Given the description of an element on the screen output the (x, y) to click on. 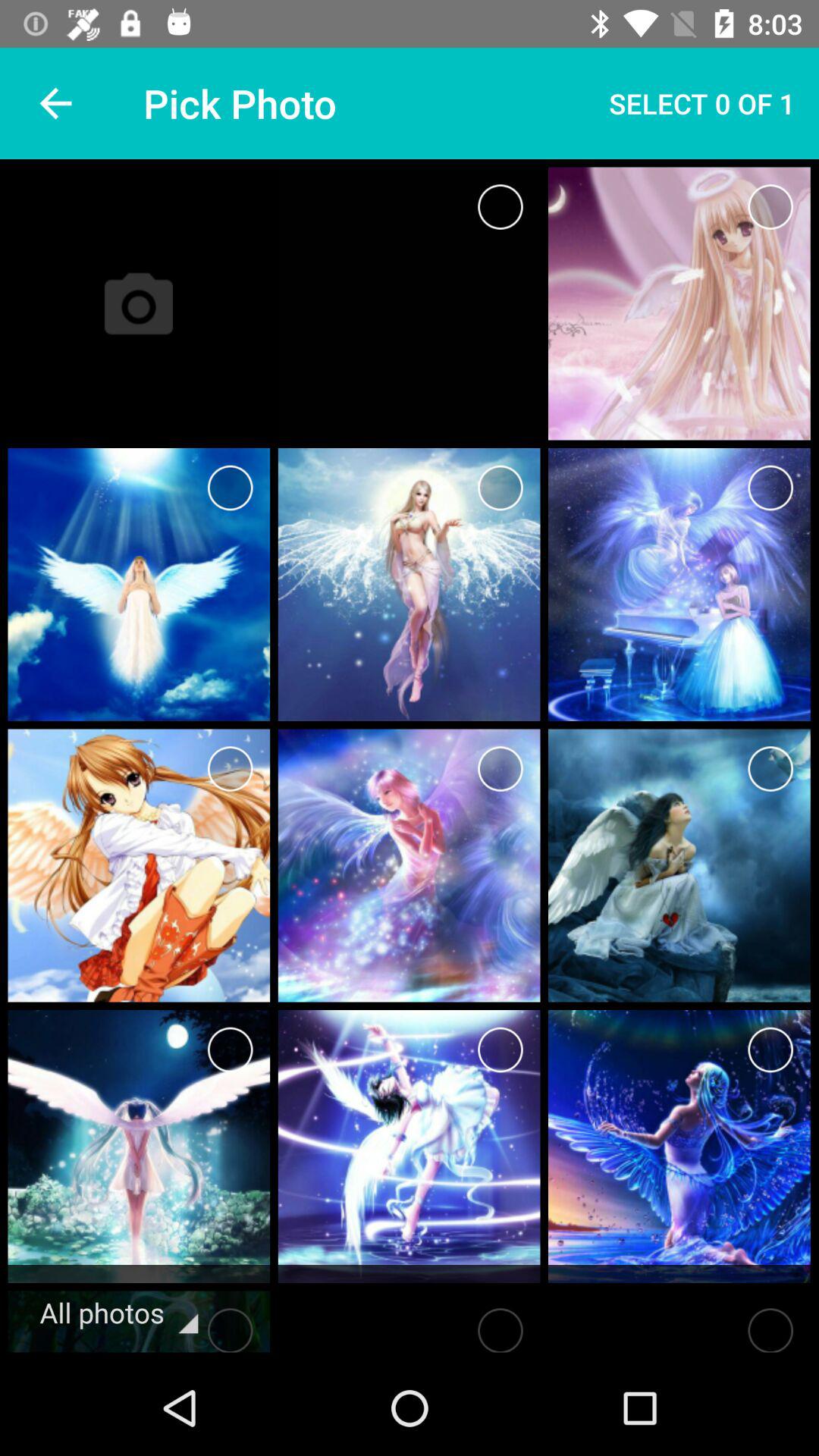
mark photo (230, 1049)
